Given the description of an element on the screen output the (x, y) to click on. 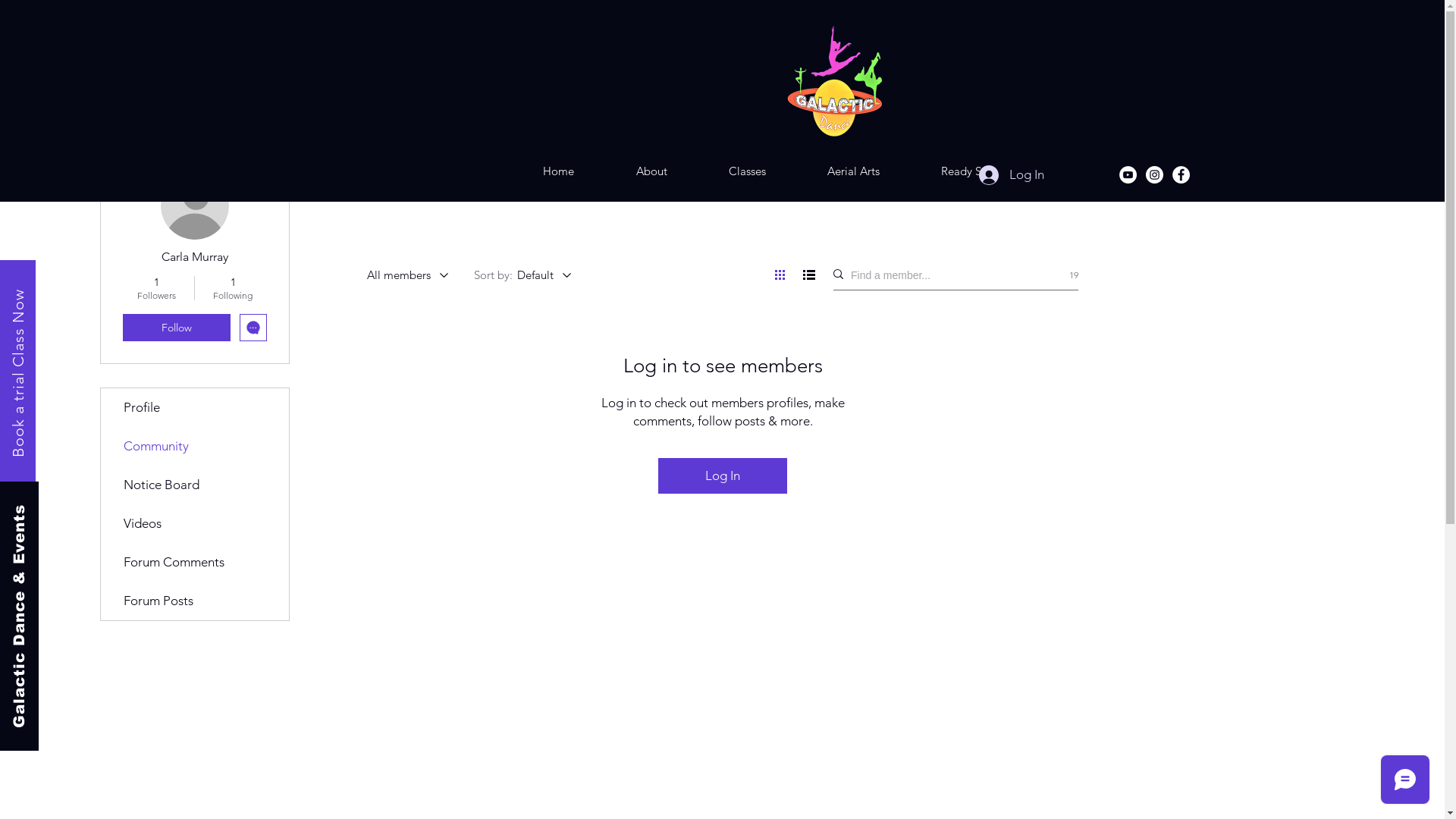
Ready Set Dance Element type: text (983, 171)
1
Following Element type: text (232, 287)
Members Widget Element type: hover (721, 390)
Log In Element type: text (1011, 174)
Profile Element type: text (194, 407)
Follow Element type: text (176, 327)
About Element type: text (651, 171)
Videos Element type: text (194, 523)
Galactic Dance & Events Element type: text (122, 511)
Home Element type: text (558, 171)
Community Element type: text (194, 445)
Forum Comments Element type: text (194, 561)
Classes Element type: text (746, 171)
Forum Posts Element type: text (194, 600)
Book a trial Class Now Element type: text (93, 297)
Aerial Arts Element type: text (853, 171)
1
Followers Element type: text (156, 287)
Contact Element type: text (1106, 171)
Notice Board Element type: text (194, 484)
